Given the description of an element on the screen output the (x, y) to click on. 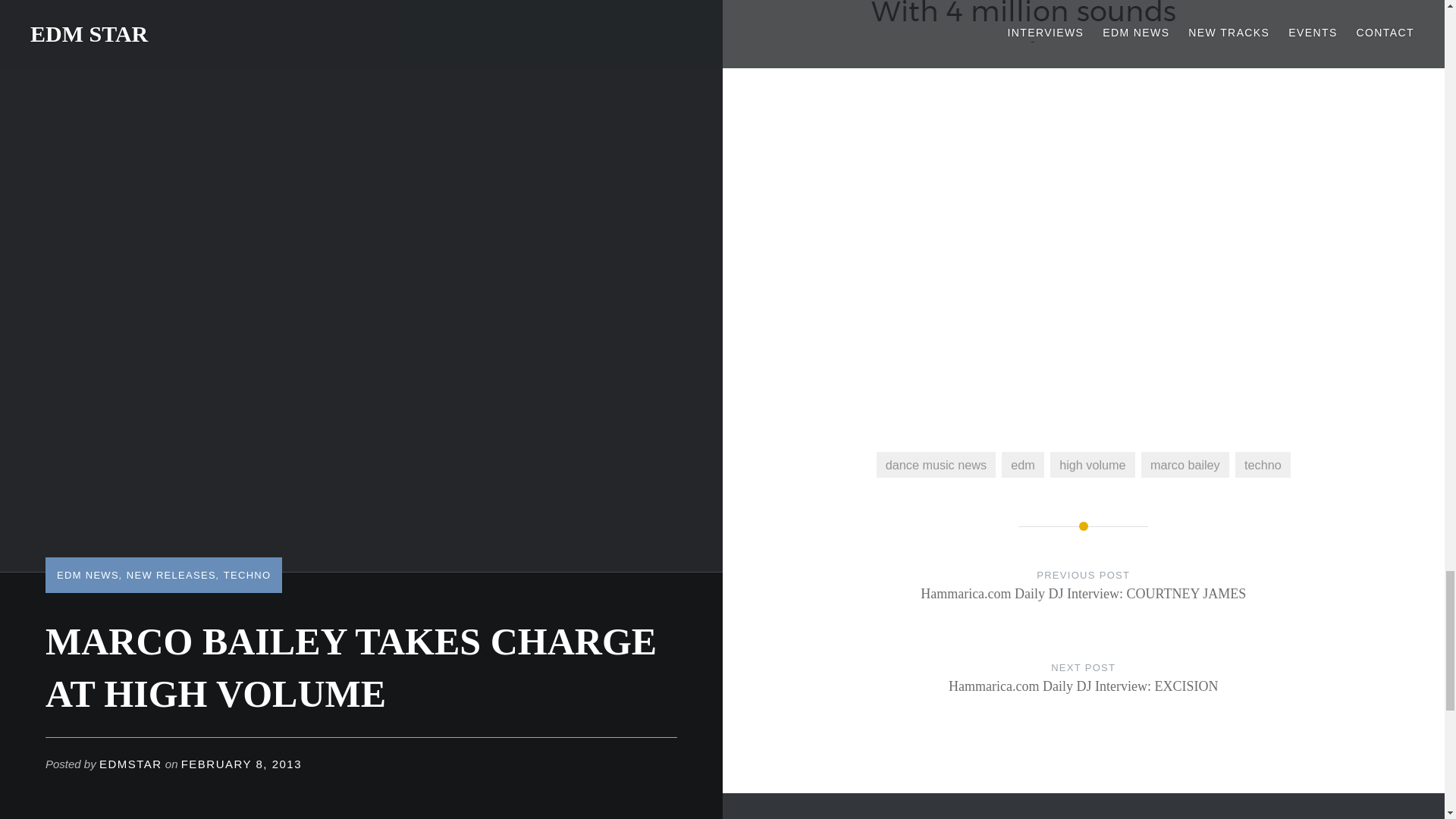
techno (1083, 692)
Loopcloud Music App from Loopmasters.com (1262, 464)
high volume (935, 464)
marco bailey (1092, 464)
edm (1184, 464)
